Given the description of an element on the screen output the (x, y) to click on. 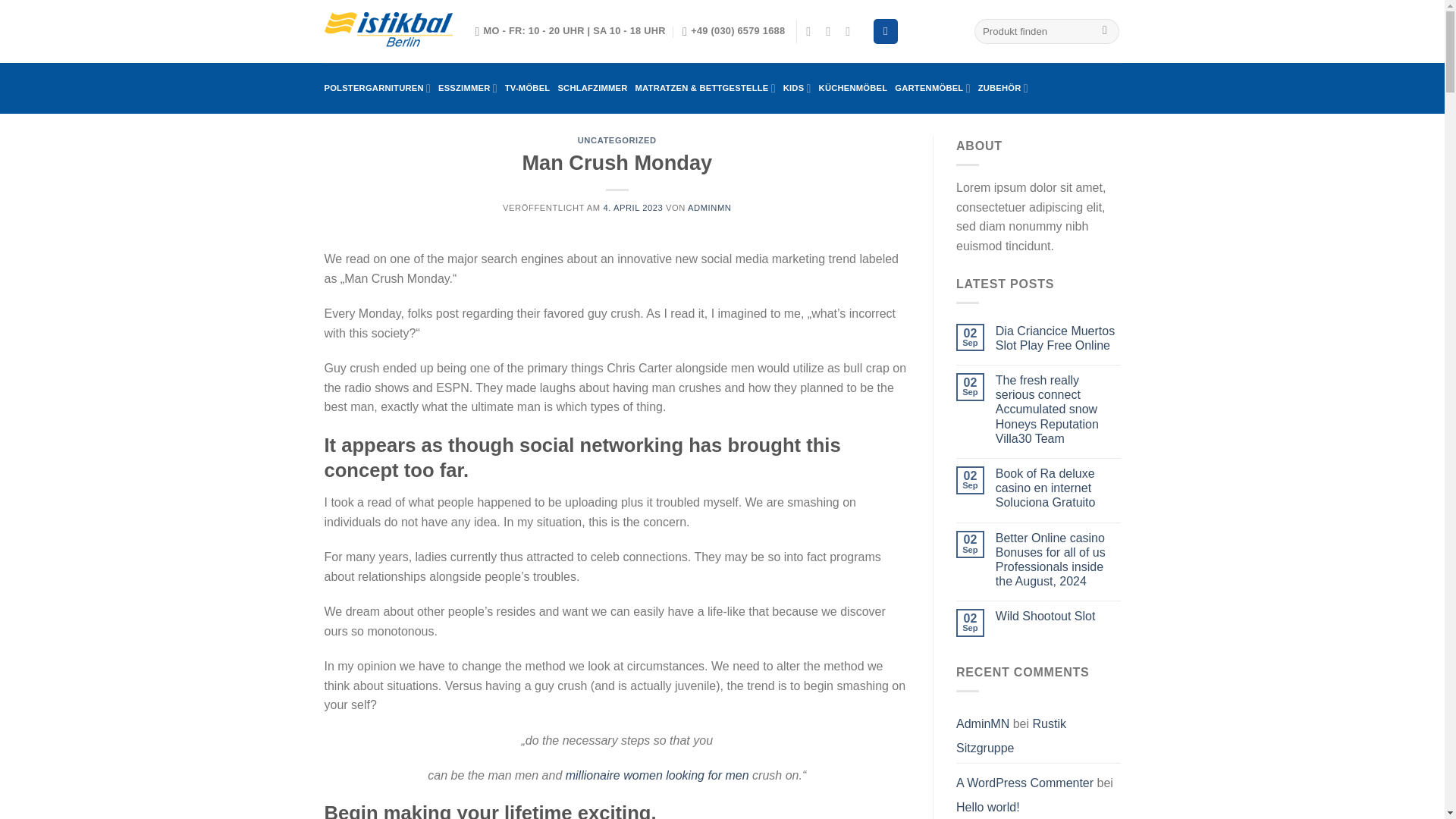
ESSZIMMER (467, 88)
Dia Criancice Muertos Slot Play Free Online (1058, 337)
SCHLAFZIMMER (592, 88)
POLSTERGARNITUREN (377, 88)
Suche (1105, 31)
istikbal-berlin.de (388, 31)
